Given the description of an element on the screen output the (x, y) to click on. 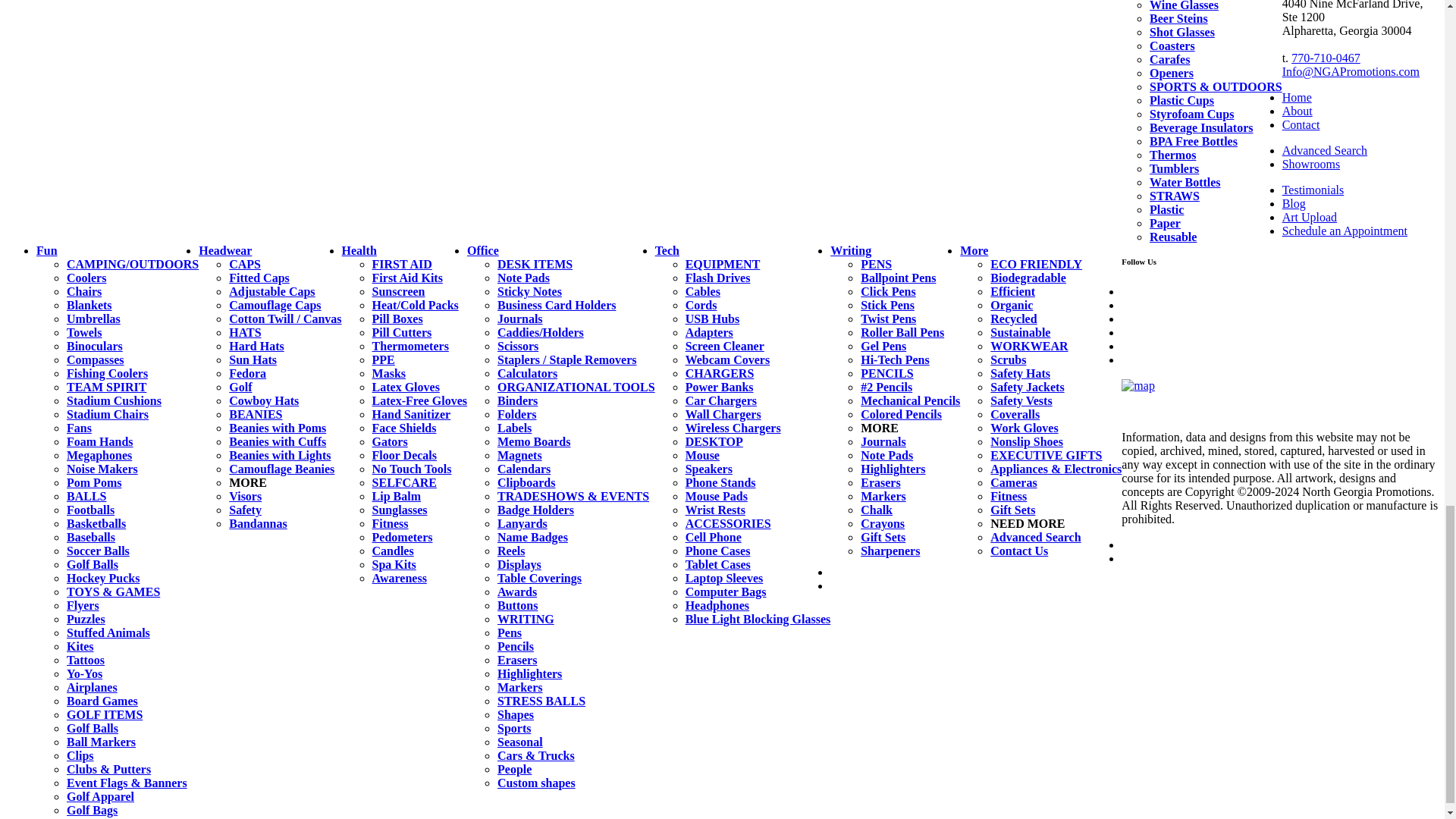
Click for a larger map (1137, 386)
